Given the description of an element on the screen output the (x, y) to click on. 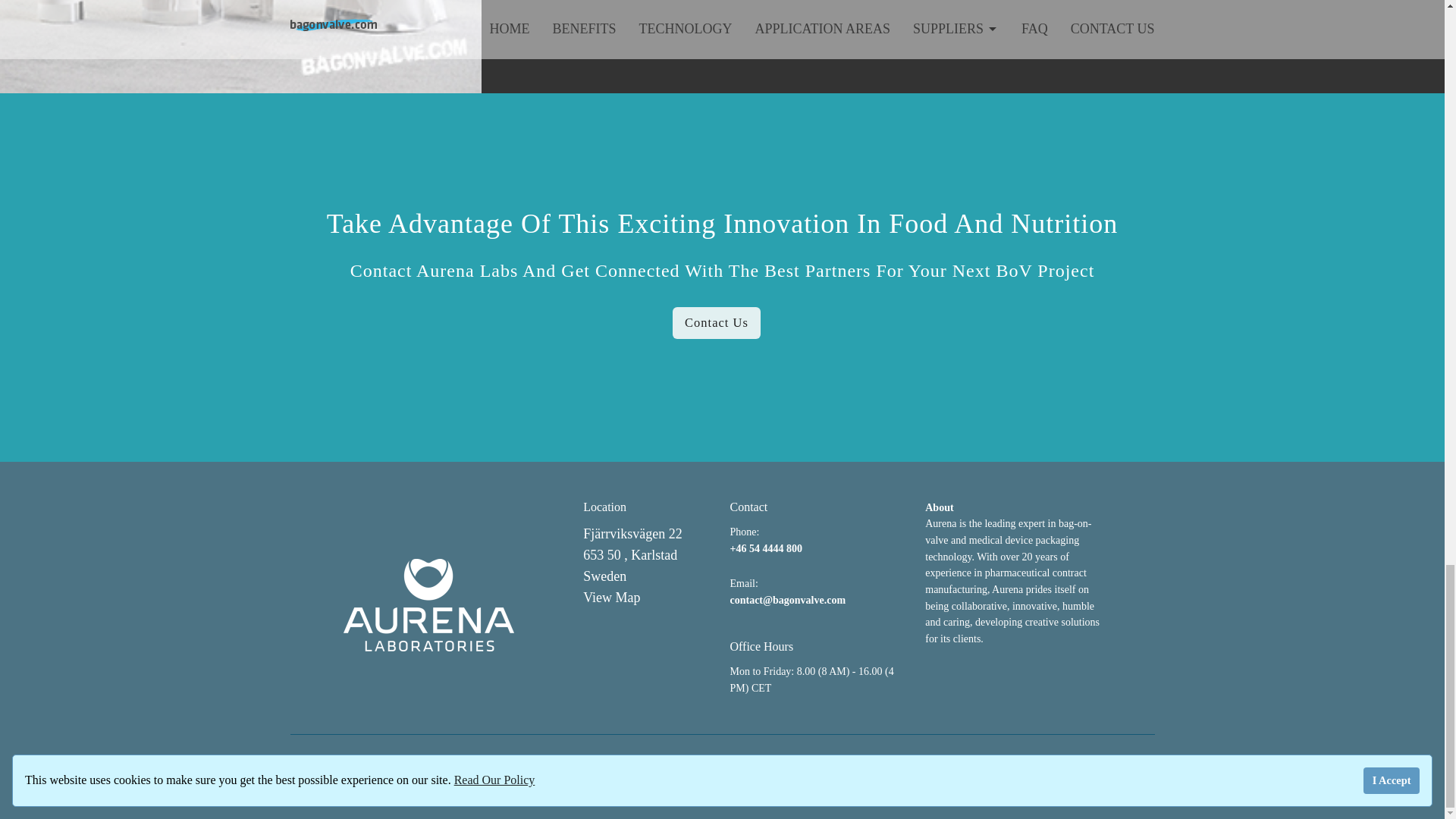
Contact Us (716, 323)
View Map (611, 597)
translation missing: en.ui.email (741, 583)
Login (491, 797)
